Given the description of an element on the screen output the (x, y) to click on. 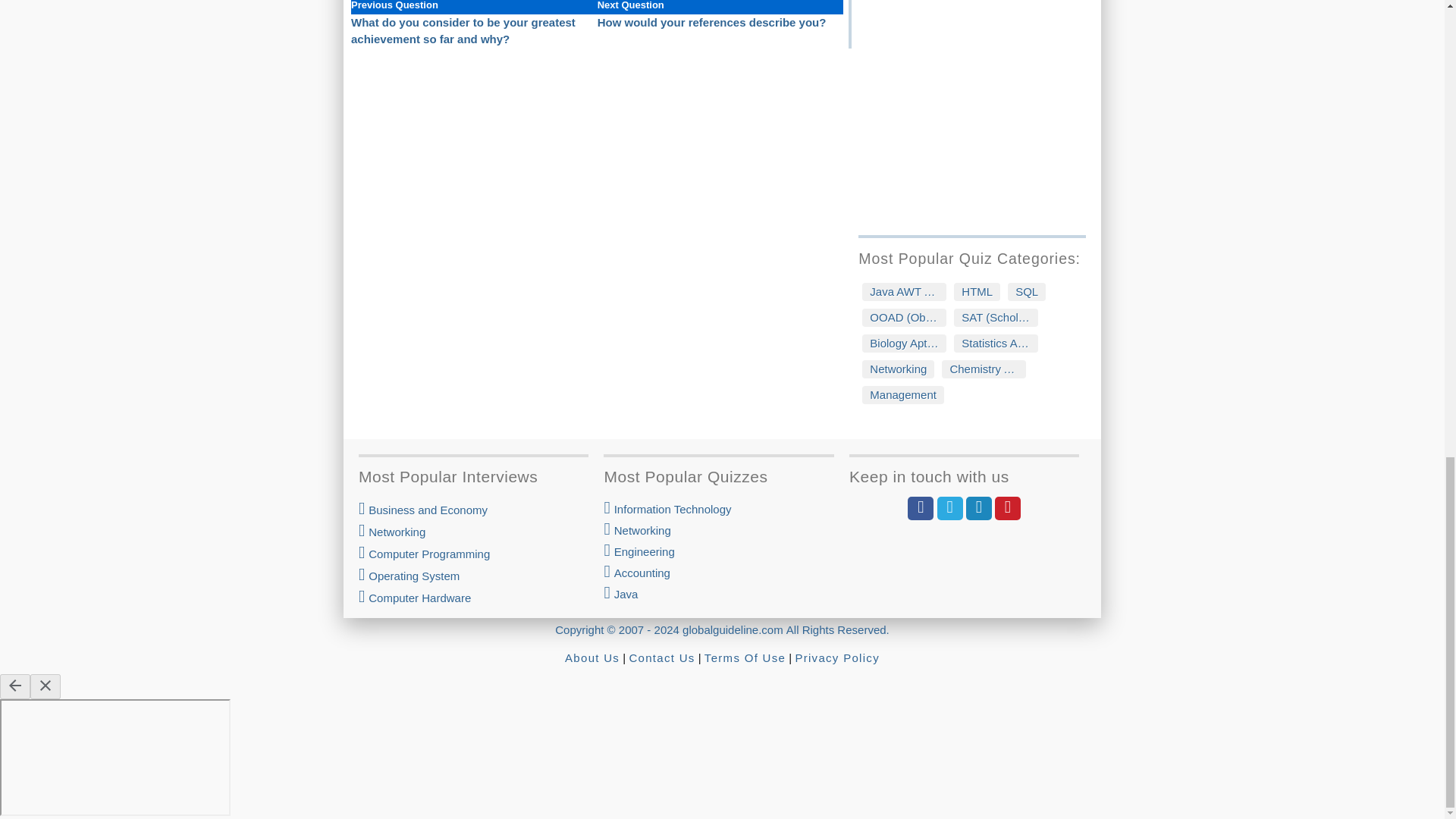
How would your references describe you? (711, 21)
